Given the description of an element on the screen output the (x, y) to click on. 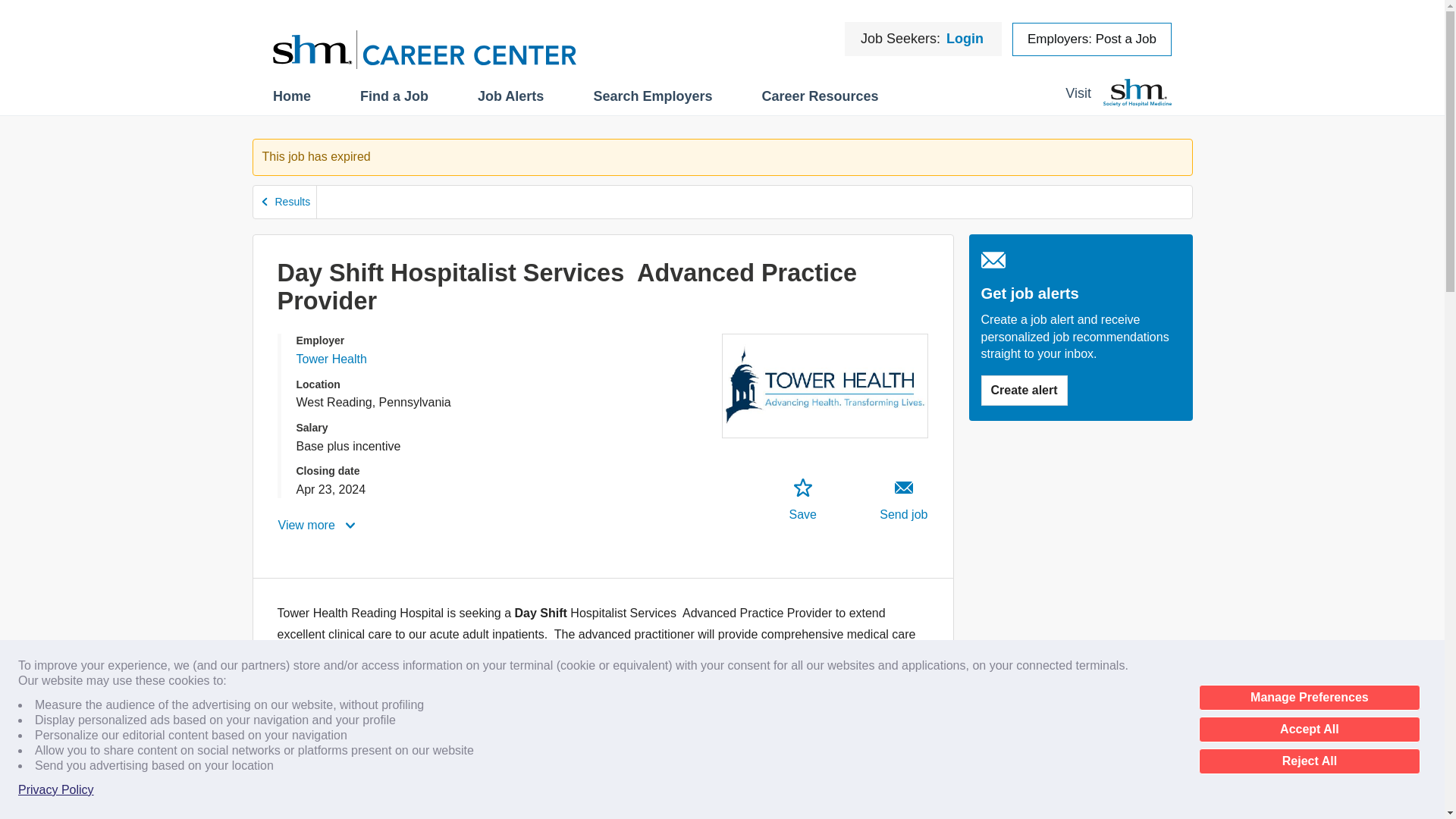
Job Alerts (510, 96)
Tower Health (330, 358)
Career Resources (819, 96)
Accept All (1309, 729)
Results (285, 201)
SHM Career Center (424, 49)
Manage Preferences (1309, 697)
Reject All (1309, 760)
View more (318, 524)
Search Employers (651, 96)
Privacy Policy (55, 789)
Login (964, 38)
Find a Job (393, 96)
Create alert (1091, 39)
